Given the description of an element on the screen output the (x, y) to click on. 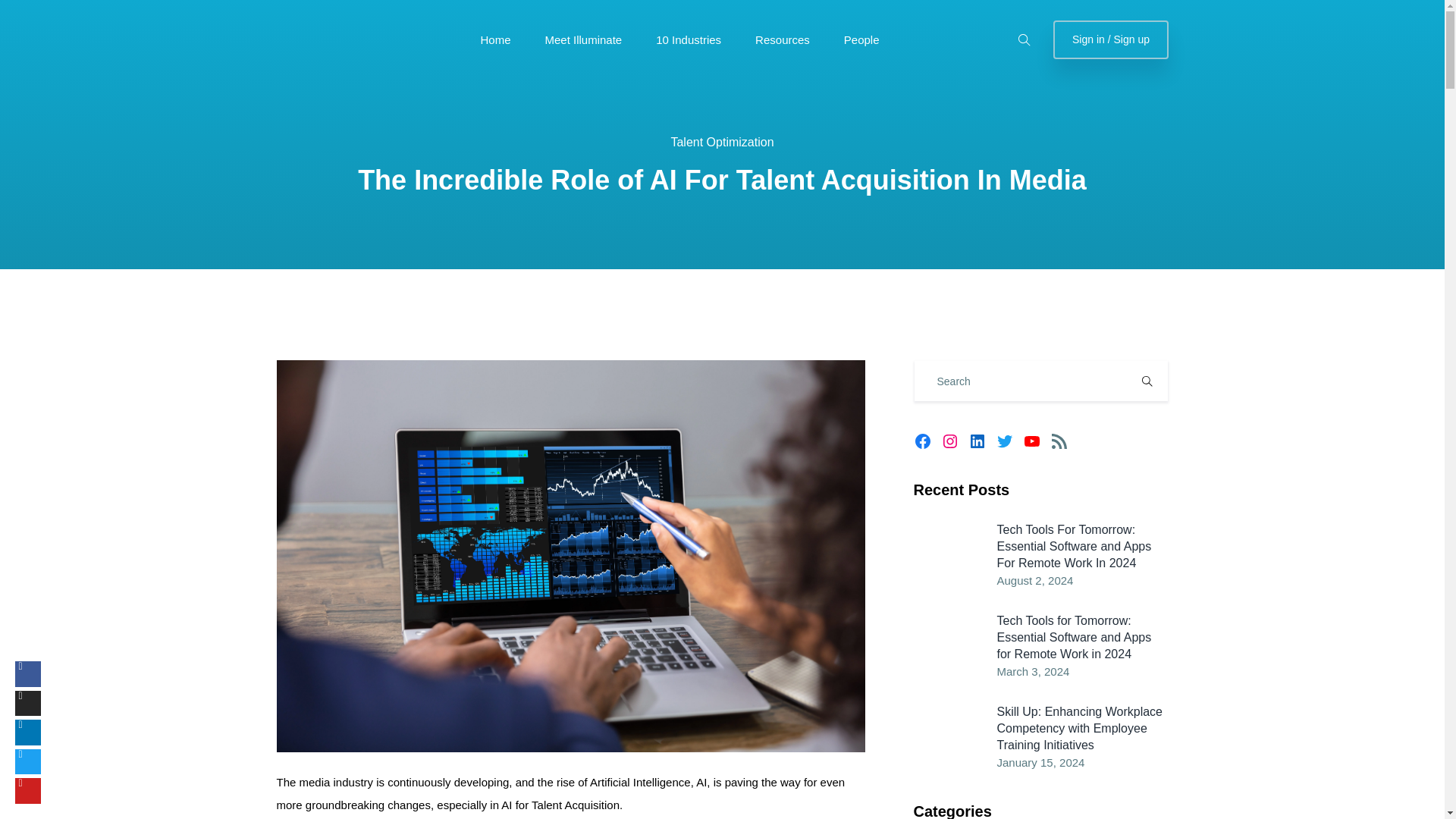
Talent Optimization (721, 141)
Home (495, 39)
Meet Illuminate (582, 39)
Resources (782, 39)
10 Industries (688, 39)
People (861, 39)
